Given the description of an element on the screen output the (x, y) to click on. 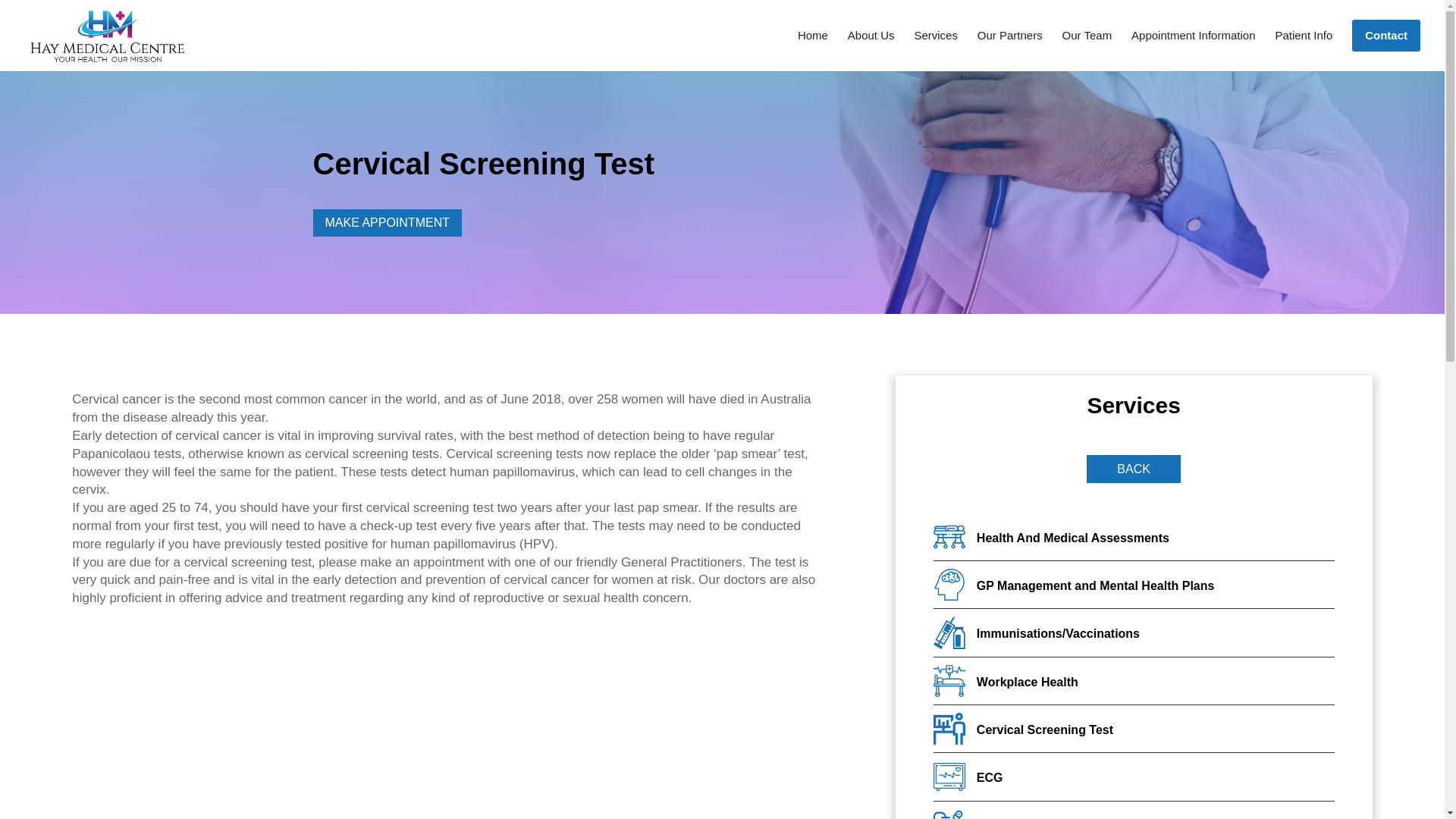
Our Team (1087, 49)
MAKE APPOINTMENT (387, 223)
Appointment Information (1193, 49)
Our Partners (1009, 49)
About Us (871, 49)
Services (936, 49)
BACK (1133, 469)
Patient Info (1303, 49)
